Given the description of an element on the screen output the (x, y) to click on. 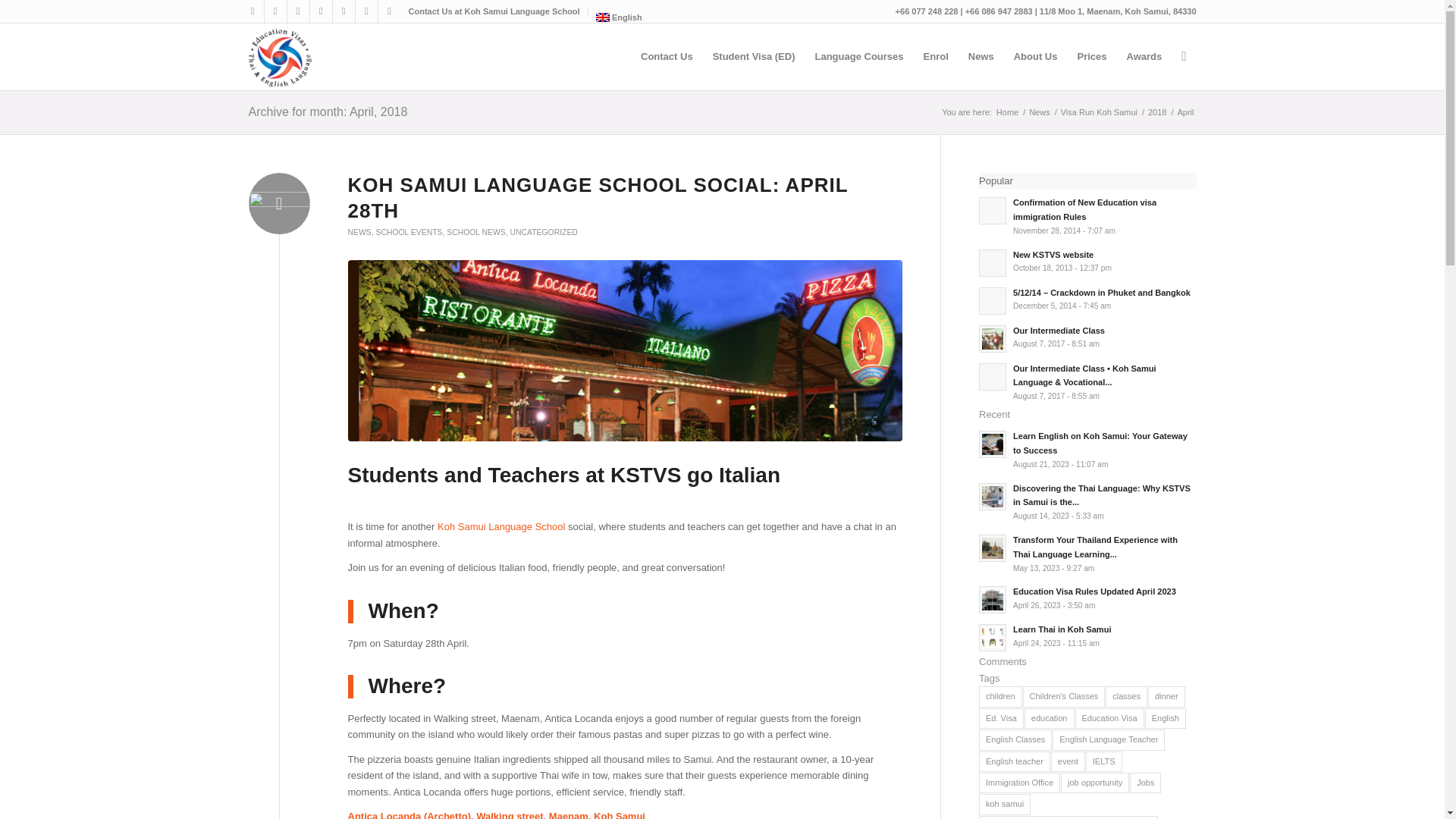
Language Courses (858, 56)
Twitter (297, 11)
Contact Us (666, 56)
English (618, 17)
Vk (274, 11)
Contact Us at Koh Samui Language School (493, 11)
Mail (388, 11)
Skype (366, 11)
Instagram (342, 11)
English (618, 17)
